Given the description of an element on the screen output the (x, y) to click on. 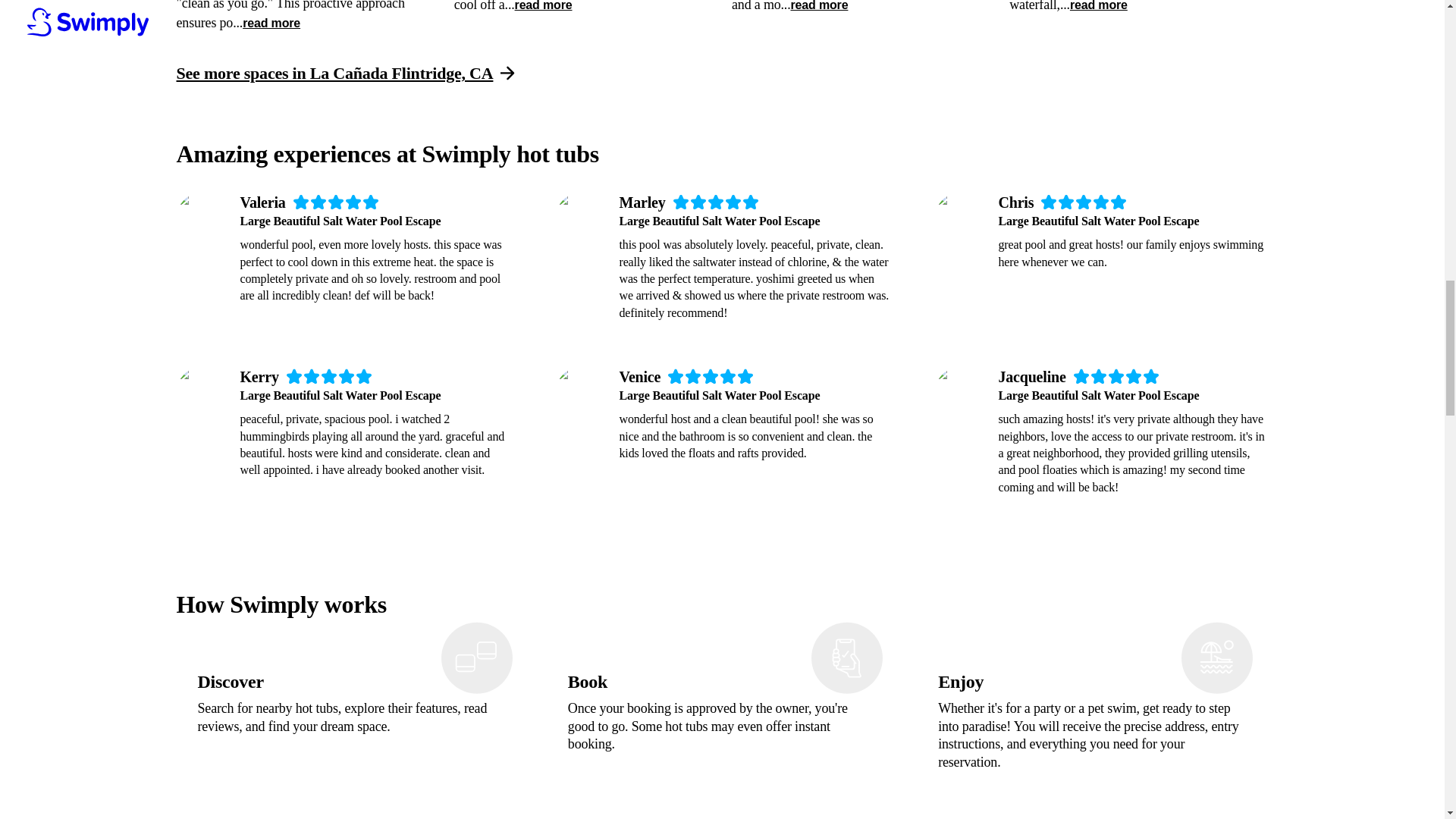
read more (818, 6)
read more (271, 23)
read more (1098, 6)
5 Stars (329, 376)
5 Stars (1083, 202)
read more (543, 6)
5 Stars (1116, 376)
5 Stars (715, 202)
5 Stars (711, 376)
5 Stars (336, 202)
